Given the description of an element on the screen output the (x, y) to click on. 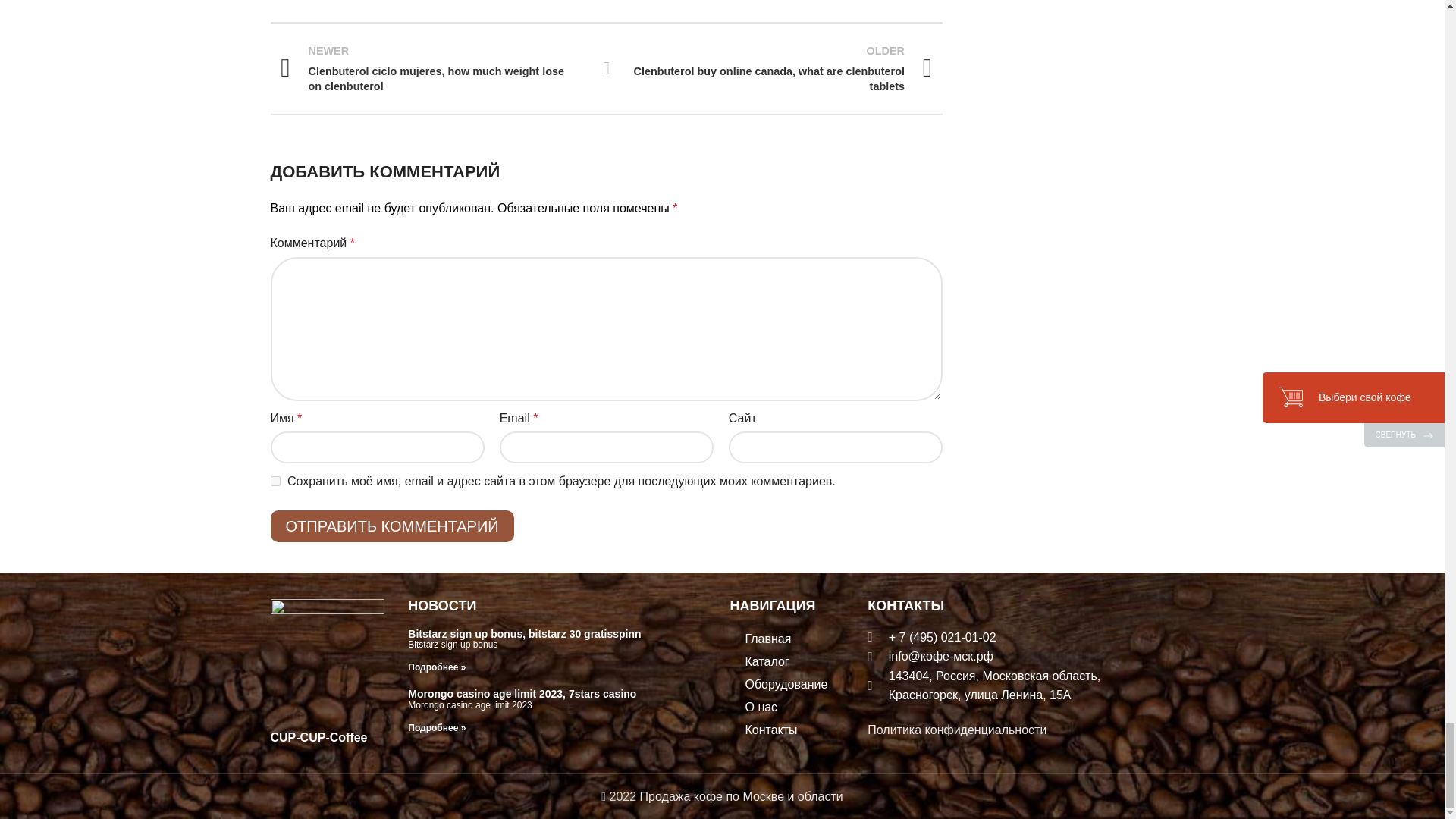
yes (274, 480)
Back to list (606, 67)
